Given the description of an element on the screen output the (x, y) to click on. 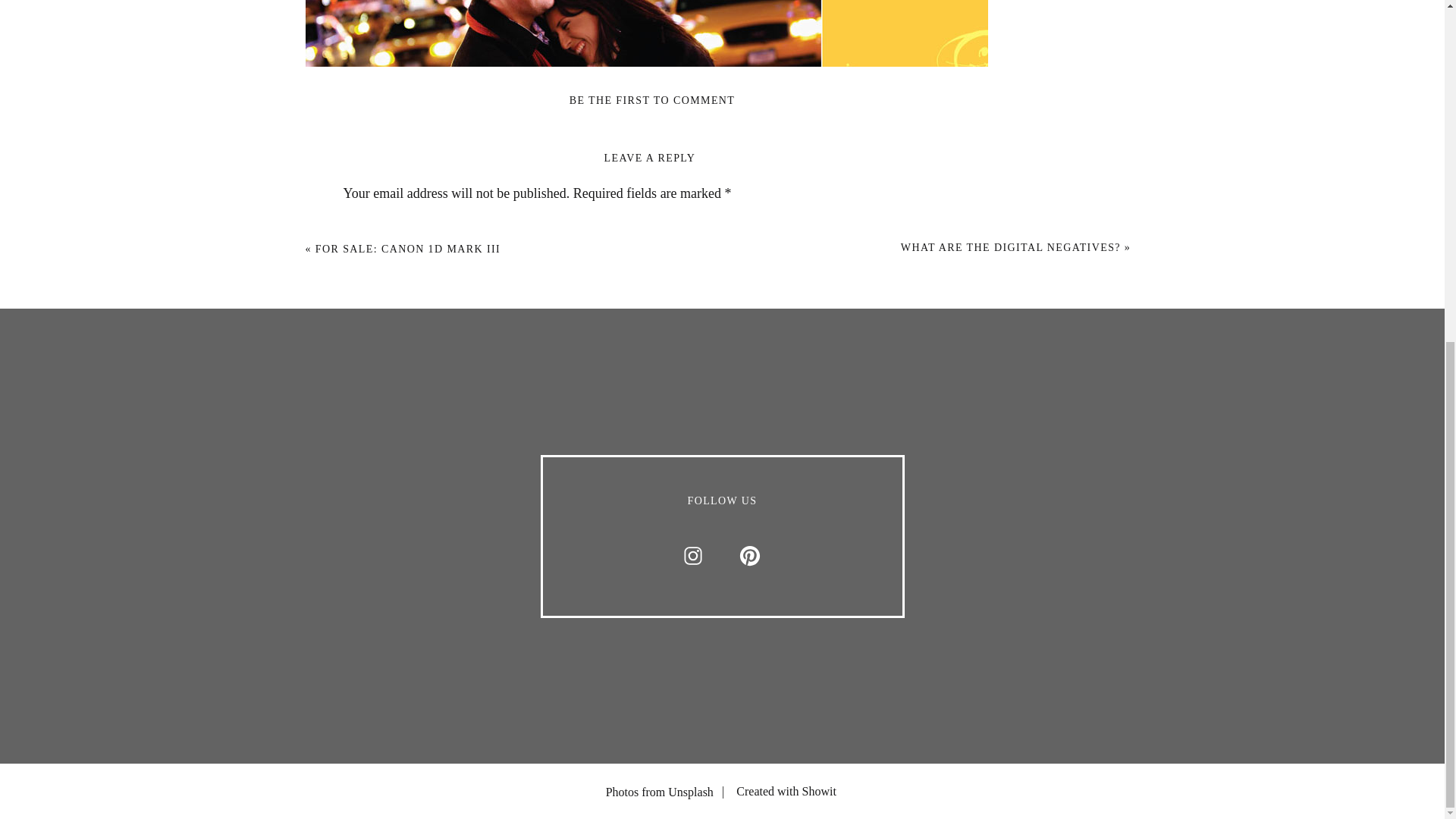
yes (350, 644)
Post Comment (391, 717)
FOR SALE: CANON 1D MARK III (407, 248)
Photos from Unsplash (626, 792)
WHAT ARE THE DIGITAL NEGATIVES? (1011, 247)
BE THE FIRST TO COMMENT (652, 100)
Post Comment (391, 717)
